Given the description of an element on the screen output the (x, y) to click on. 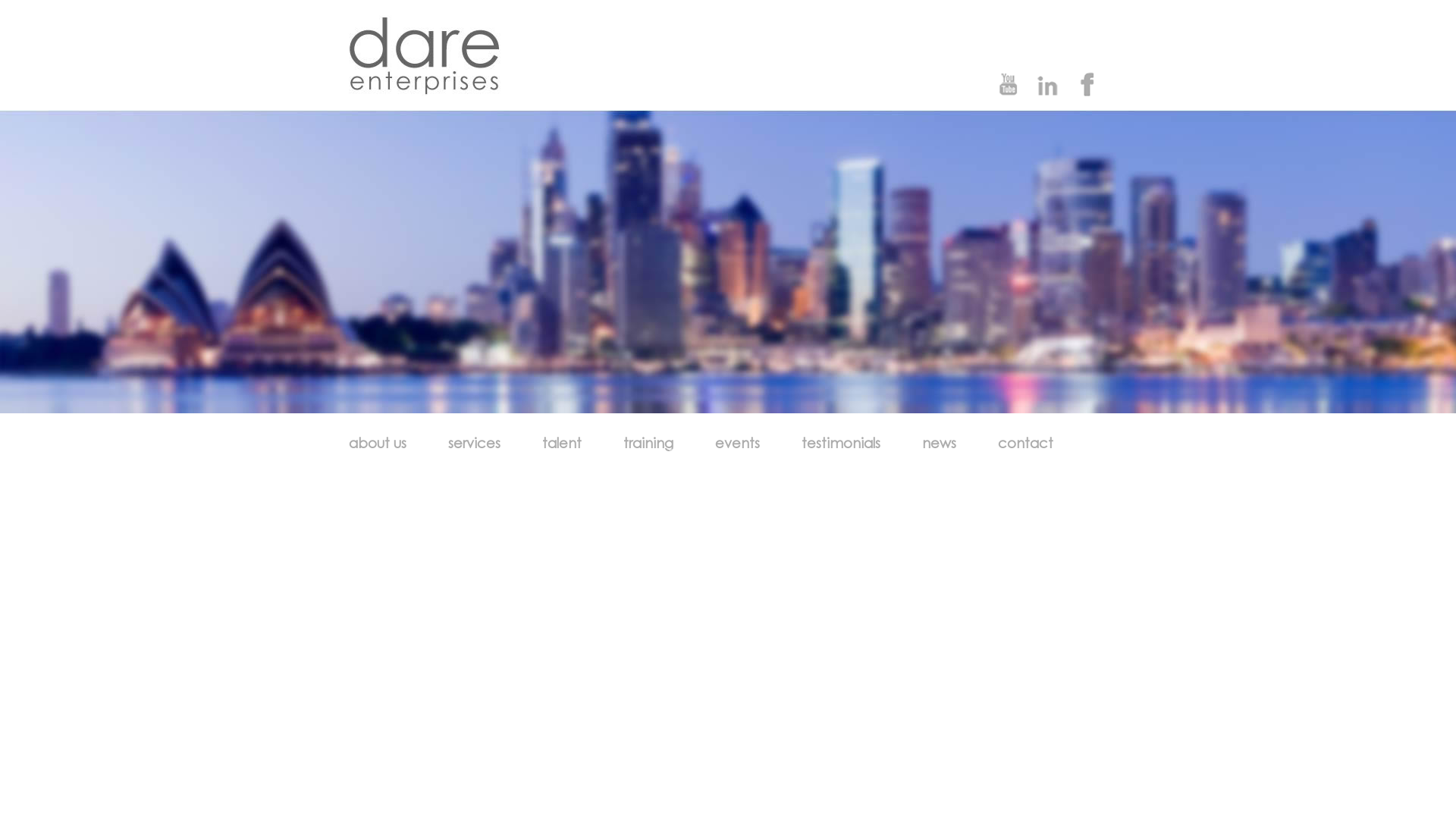
Dare Enterprises Element type: hover (424, 92)
Dare Enterprises Element type: hover (424, 55)
Facebook Element type: hover (1084, 83)
LinkedIn Element type: hover (1046, 83)
about us Element type: text (382, 442)
news Element type: text (944, 442)
events Element type: text (743, 442)
contact Element type: text (1030, 442)
YouTube Element type: hover (1008, 83)
services Element type: text (479, 442)
